Given the description of an element on the screen output the (x, y) to click on. 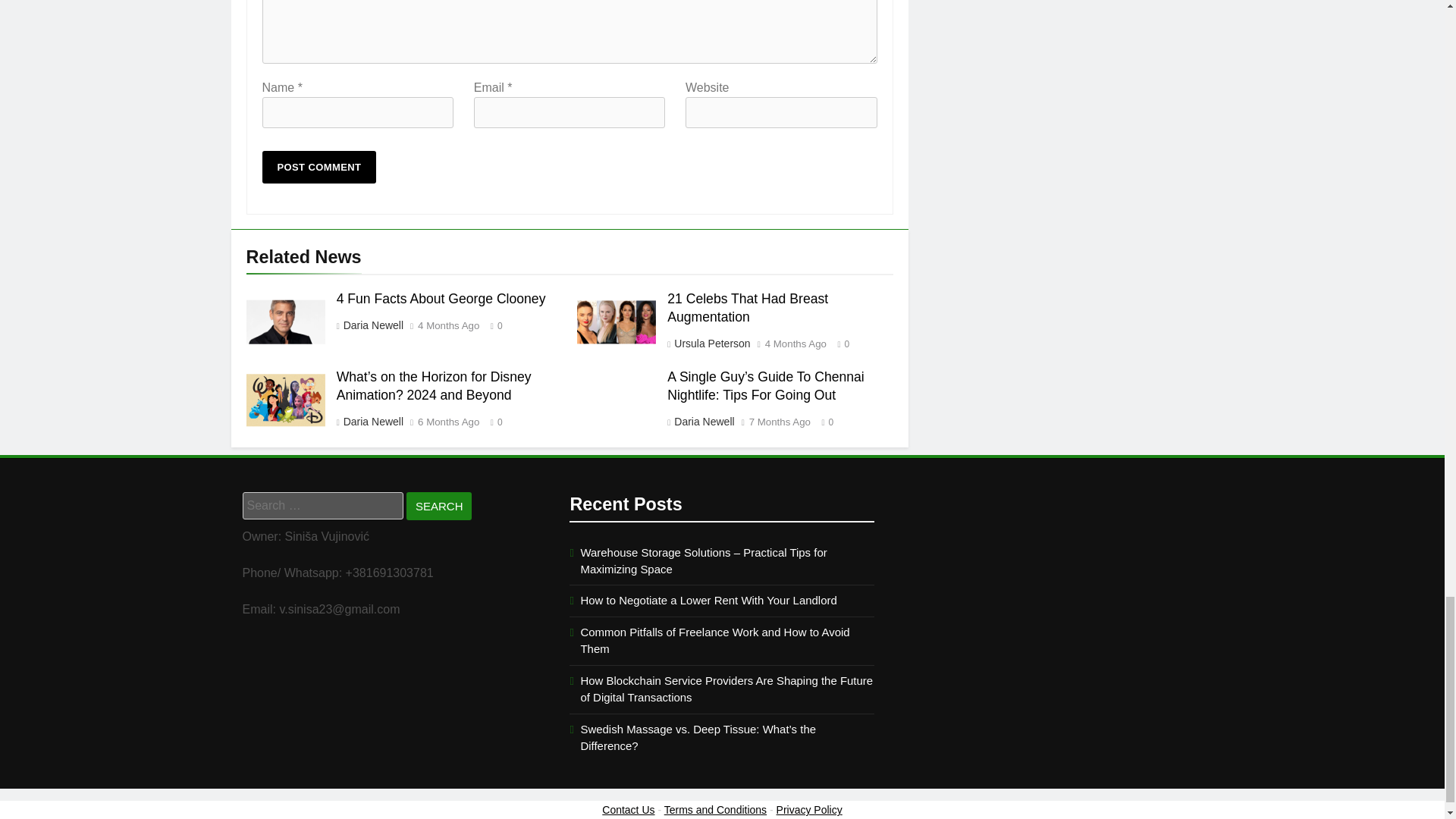
Search (438, 506)
Post Comment (319, 166)
Post Comment (319, 166)
Search (438, 506)
